Given the description of an element on the screen output the (x, y) to click on. 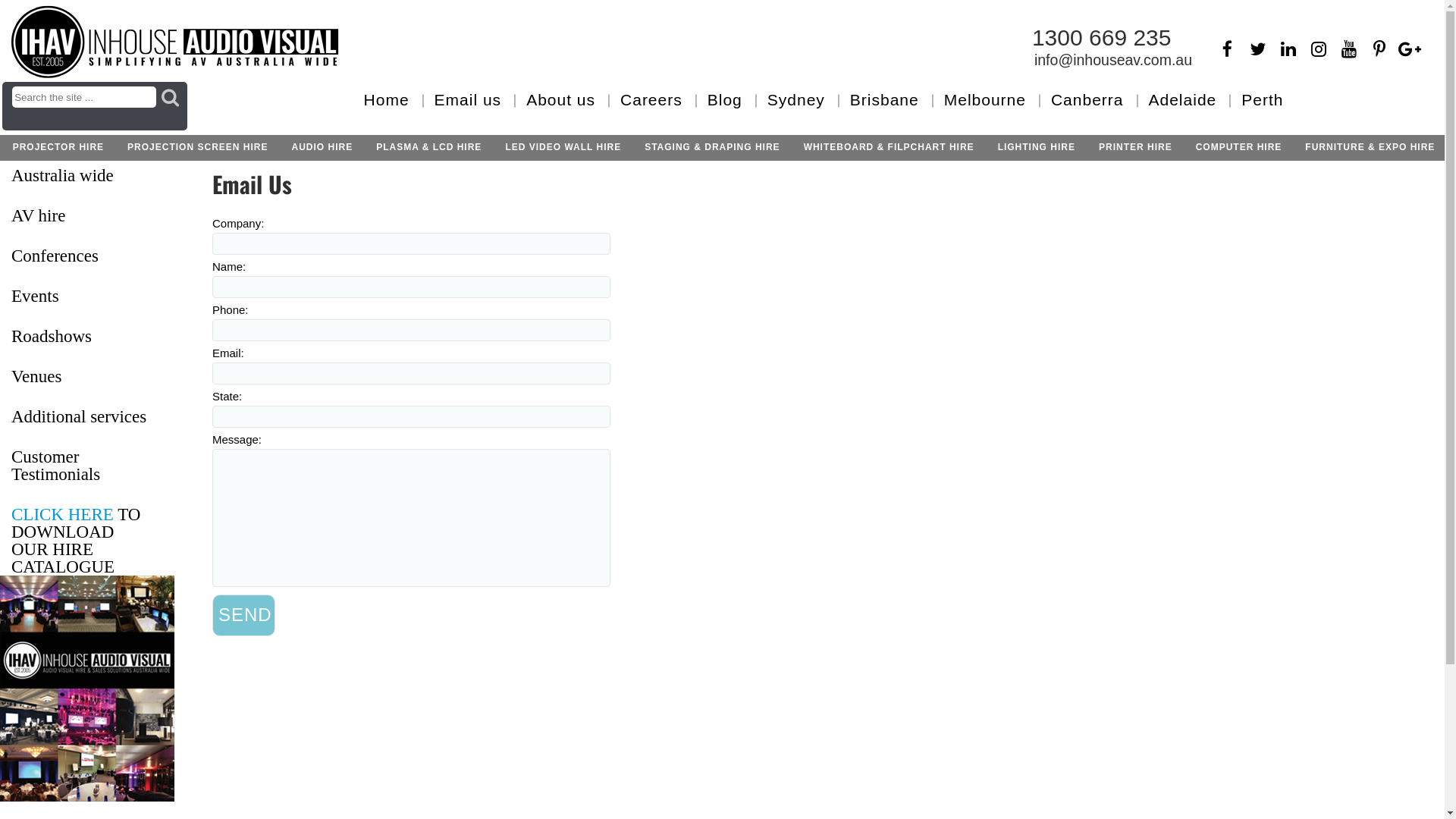
Blog Element type: text (724, 99)
PRINTER HIRE Element type: text (1135, 148)
About us Element type: text (560, 99)
Sydney Element type: text (796, 99)
Email us Element type: text (468, 99)
STAGING & DRAPING HIRE Element type: text (712, 148)
Roadshows Element type: text (87, 336)
Perth Element type: text (1262, 99)
Melbourne Element type: text (985, 99)
WHITEBOARD & FILPCHART HIRE Element type: text (888, 148)
Additional services Element type: text (87, 416)
FURNITURE & EXPO HIRE Element type: text (1369, 148)
Home Element type: text (386, 99)
Careers Element type: text (651, 99)
Customer Testimonials Element type: text (87, 465)
info@inhouseav.com.au Element type: text (1113, 59)
Australia wide Element type: text (87, 175)
PLASMA & LCD HIRE Element type: text (428, 148)
Conferences Element type: text (87, 255)
Send > Element type: text (243, 615)
Adelaide Element type: text (1182, 99)
AUDIO HIRE Element type: text (321, 148)
LED VIDEO WALL HIRE Element type: text (562, 148)
PROJECTOR HIRE Element type: text (58, 148)
Canberra Element type: text (1087, 99)
Brisbane Element type: text (884, 99)
COMPUTER HIRE Element type: text (1238, 148)
PROJECTION SCREEN HIRE Element type: text (197, 148)
AV hire Element type: text (87, 215)
Venues Element type: text (87, 376)
1300 669 235 Element type: text (1101, 37)
CLICK HERE Element type: text (62, 514)
Events Element type: text (87, 295)
LIGHTING HIRE Element type: text (1036, 148)
